Given the description of an element on the screen output the (x, y) to click on. 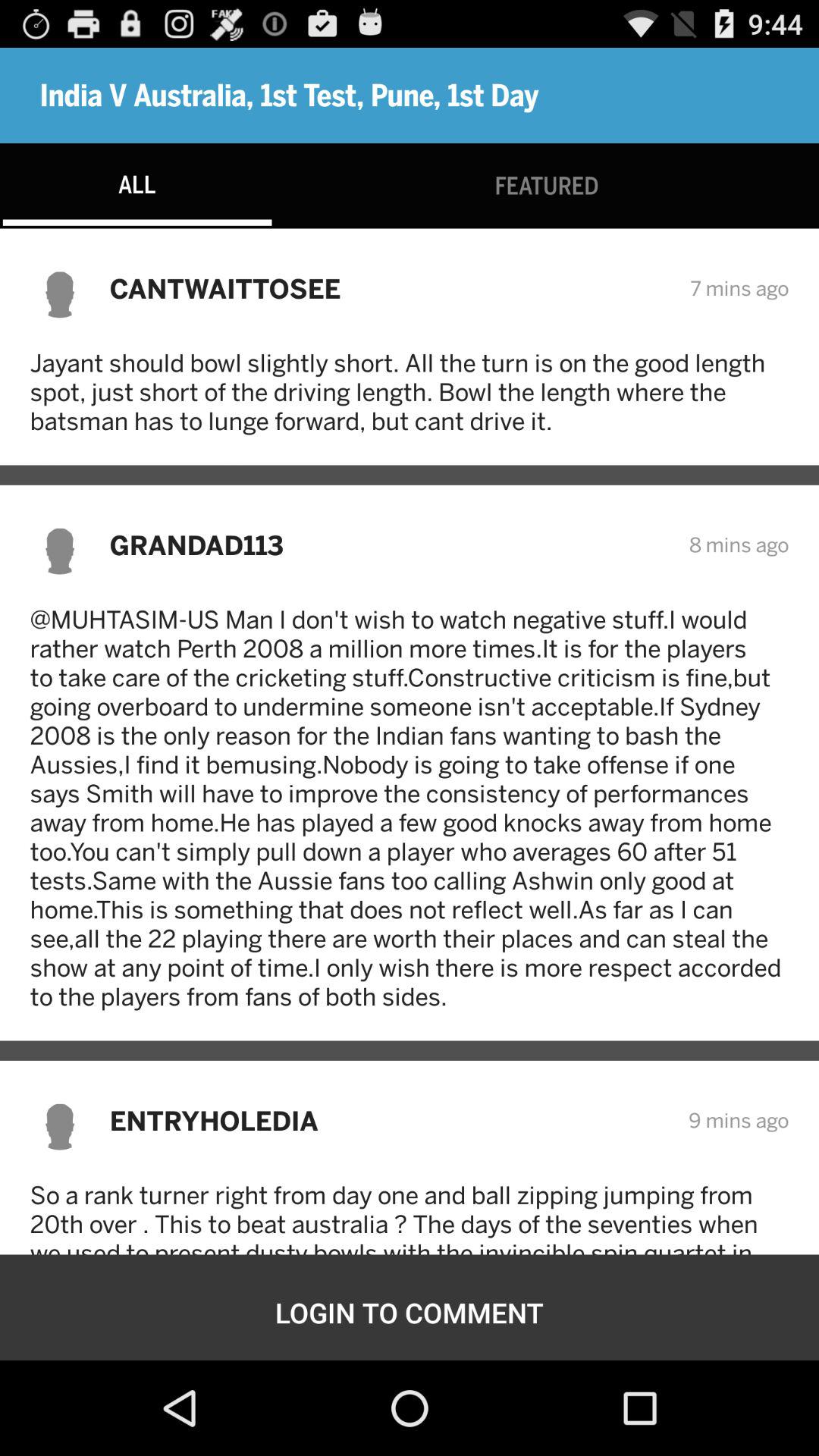
click the muhtasim us man (409, 807)
